Given the description of an element on the screen output the (x, y) to click on. 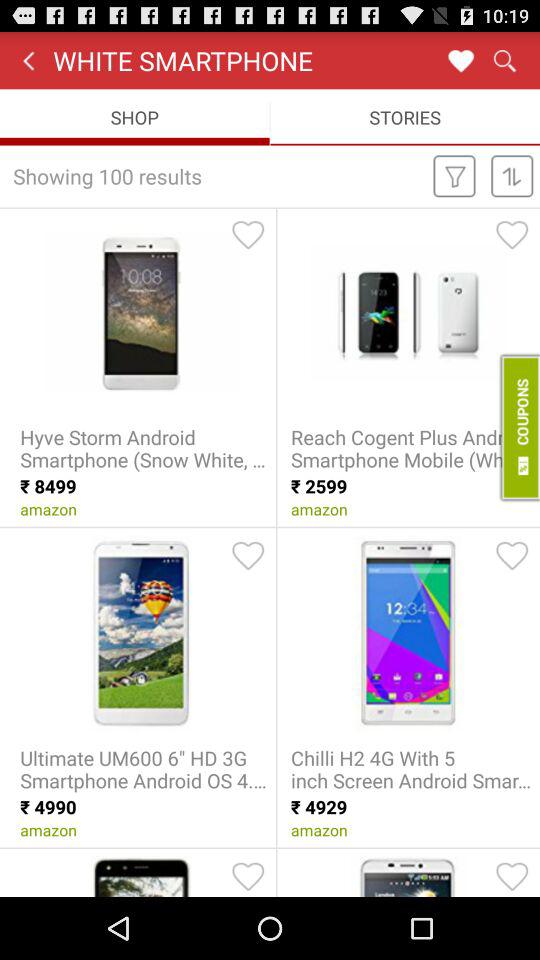
coupons icon (518, 427)
